Given the description of an element on the screen output the (x, y) to click on. 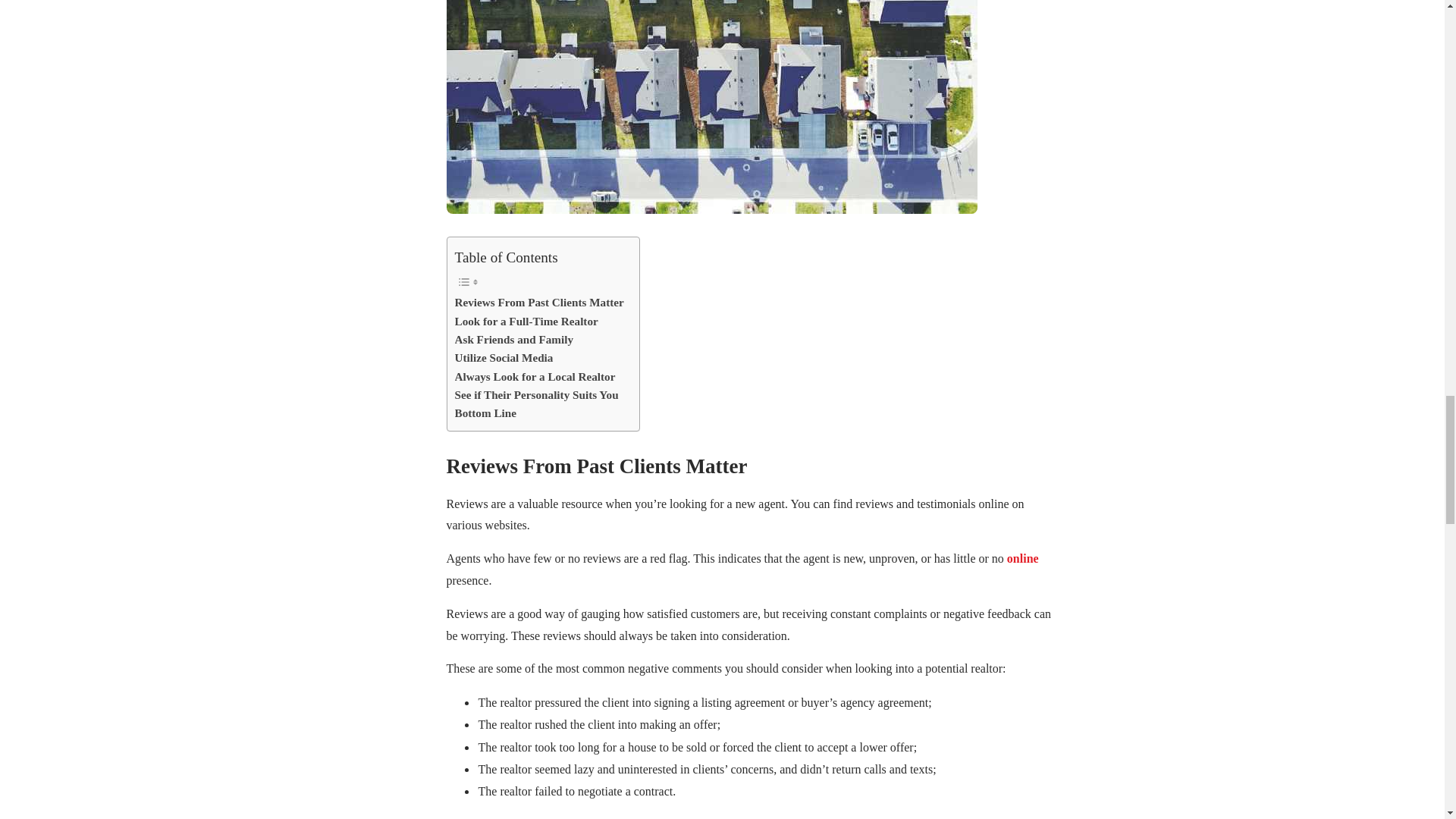
Bottom Line (485, 413)
See if Their Personality Suits You (536, 394)
Ask Friends and Family (513, 339)
Look for a Full-Time Realtor (526, 321)
Always Look for a Local Realtor (534, 376)
Reviews From Past Clients Matter (539, 302)
Utilize Social Media (503, 357)
